Given the description of an element on the screen output the (x, y) to click on. 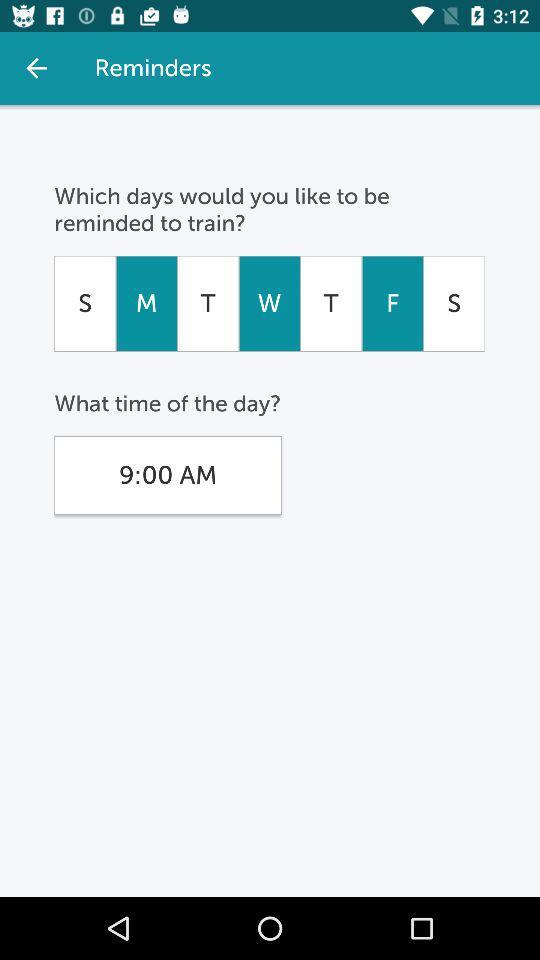
turn on icon above the what time of icon (269, 303)
